Given the description of an element on the screen output the (x, y) to click on. 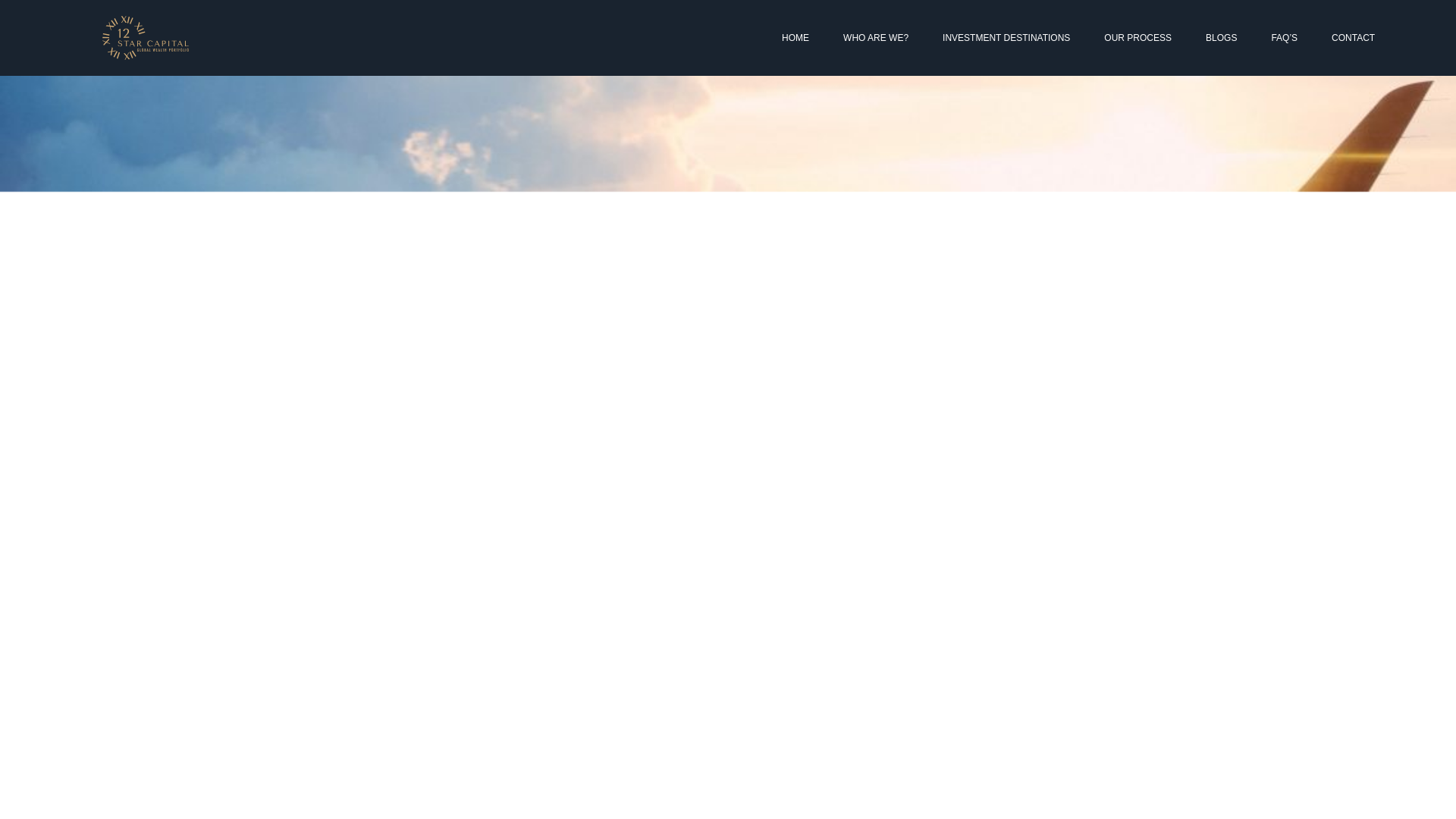
OUR PROCESS (1137, 37)
HOME (795, 37)
CONTACT (1353, 37)
WHO ARE WE? (875, 37)
INVESTMENT DESTINATIONS (1005, 37)
BLOGS (1221, 37)
